Given the description of an element on the screen output the (x, y) to click on. 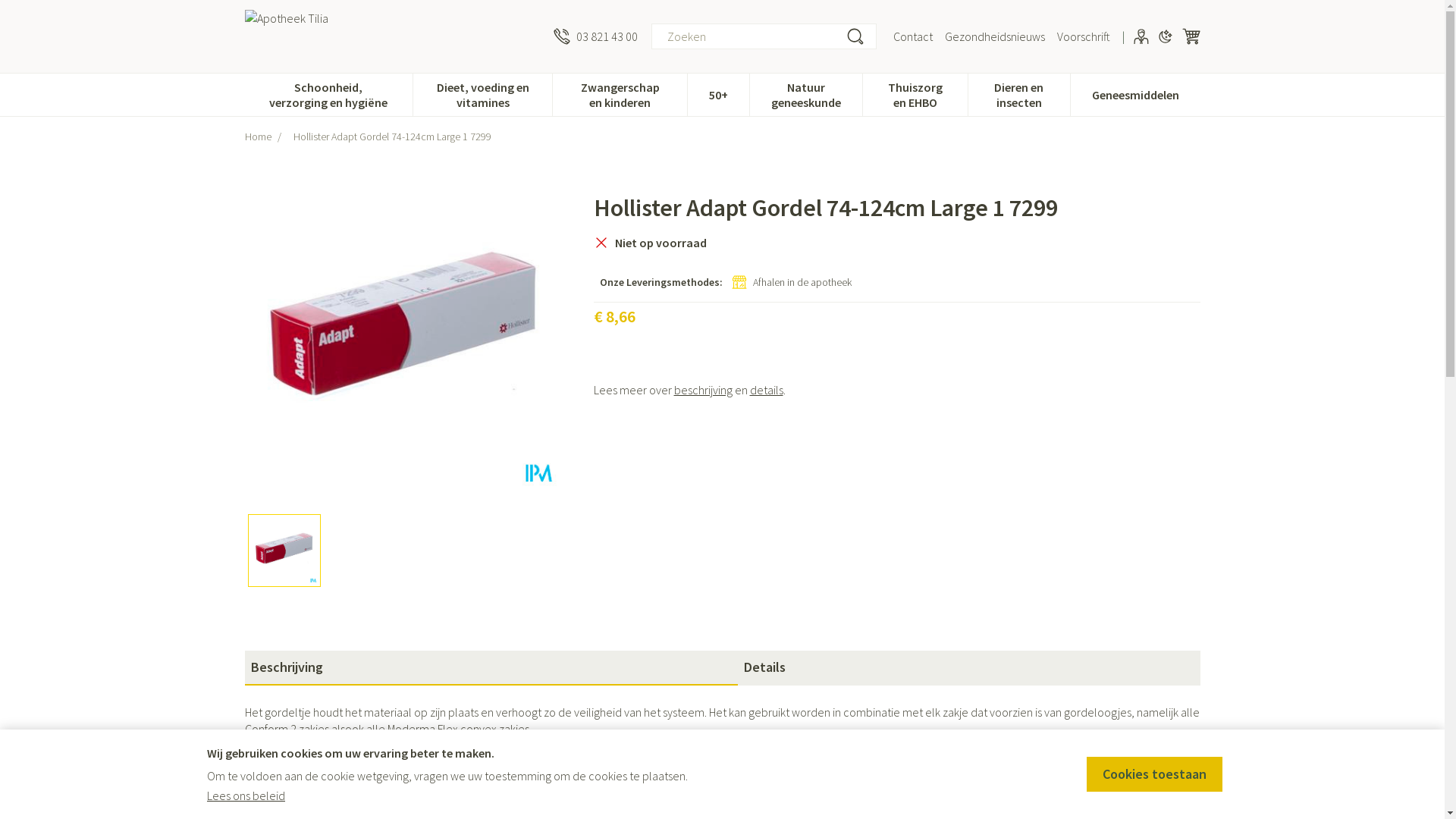
Cookies toestaan Element type: text (1154, 773)
Home Element type: text (257, 136)
Geneesmiddelen Element type: text (1135, 92)
Zwangerschap en kinderen Element type: text (619, 92)
Winkelwagen Element type: text (1190, 36)
Hollister Adapt Gordel 74-124cm Large 1 7299 Element type: hover (284, 550)
50+ Element type: text (718, 92)
Apotheek Tilia Element type: hover (392, 36)
Thuiszorg en EHBO Element type: text (914, 92)
Donkere modus Element type: text (1164, 35)
Apotheek Tilia Element type: hover (319, 35)
Zoeken Element type: text (855, 36)
Klant menu Element type: text (1140, 35)
Dieet, voeding en vitamines Element type: text (482, 92)
Lees ons beleid Element type: text (246, 795)
Voorschrift Element type: text (1083, 35)
Natuur geneeskunde Element type: text (805, 92)
Dieren en insecten Element type: text (1019, 92)
Gezondheidsnieuws Element type: text (994, 35)
03 821 43 00 Element type: text (595, 36)
Hollister Adapt Gordel 74-124cm Large 1 7299 Element type: hover (403, 333)
Contact Element type: text (912, 35)
